Given the description of an element on the screen output the (x, y) to click on. 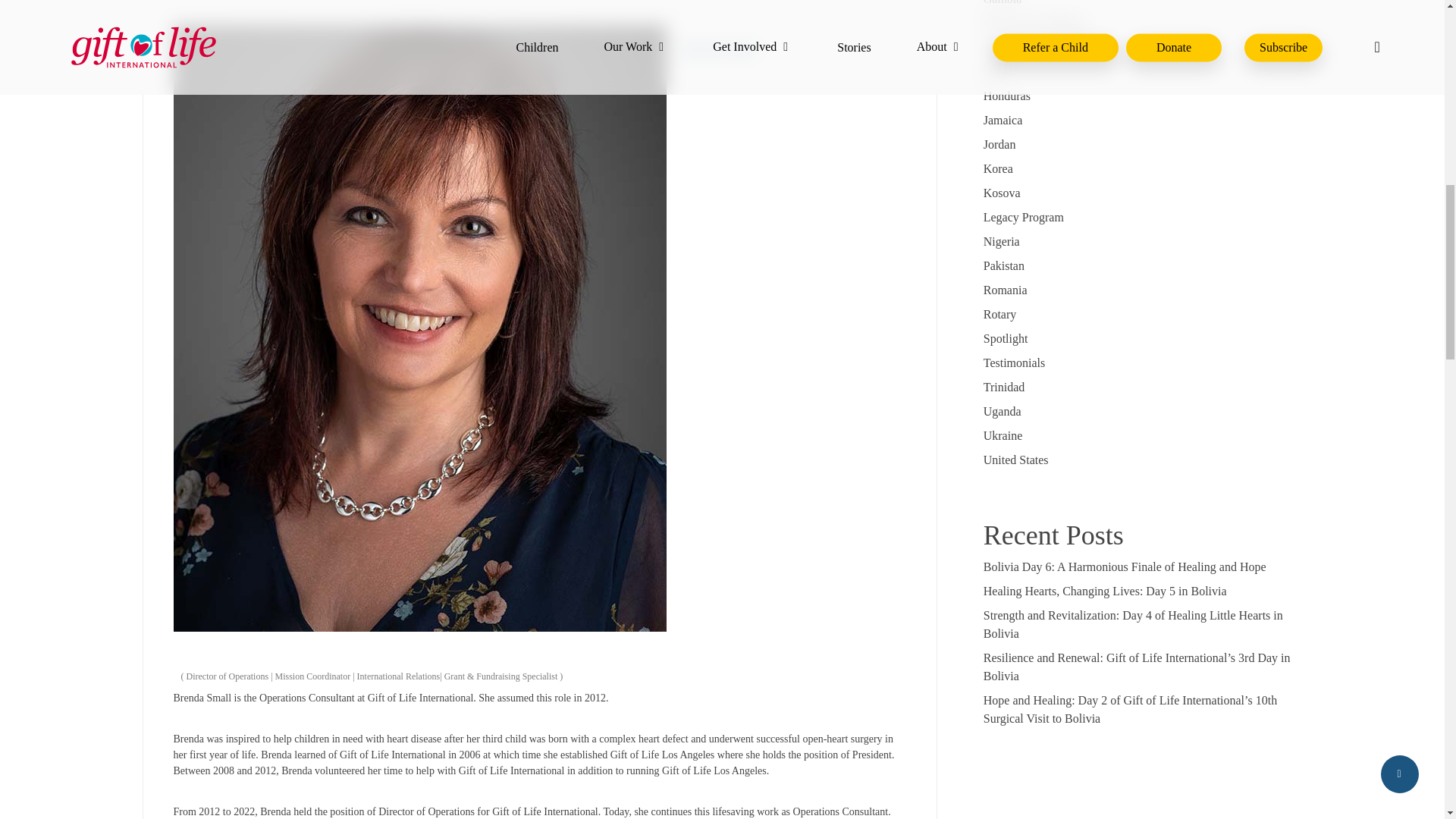
Brenda Small (718, 48)
